Given the description of an element on the screen output the (x, y) to click on. 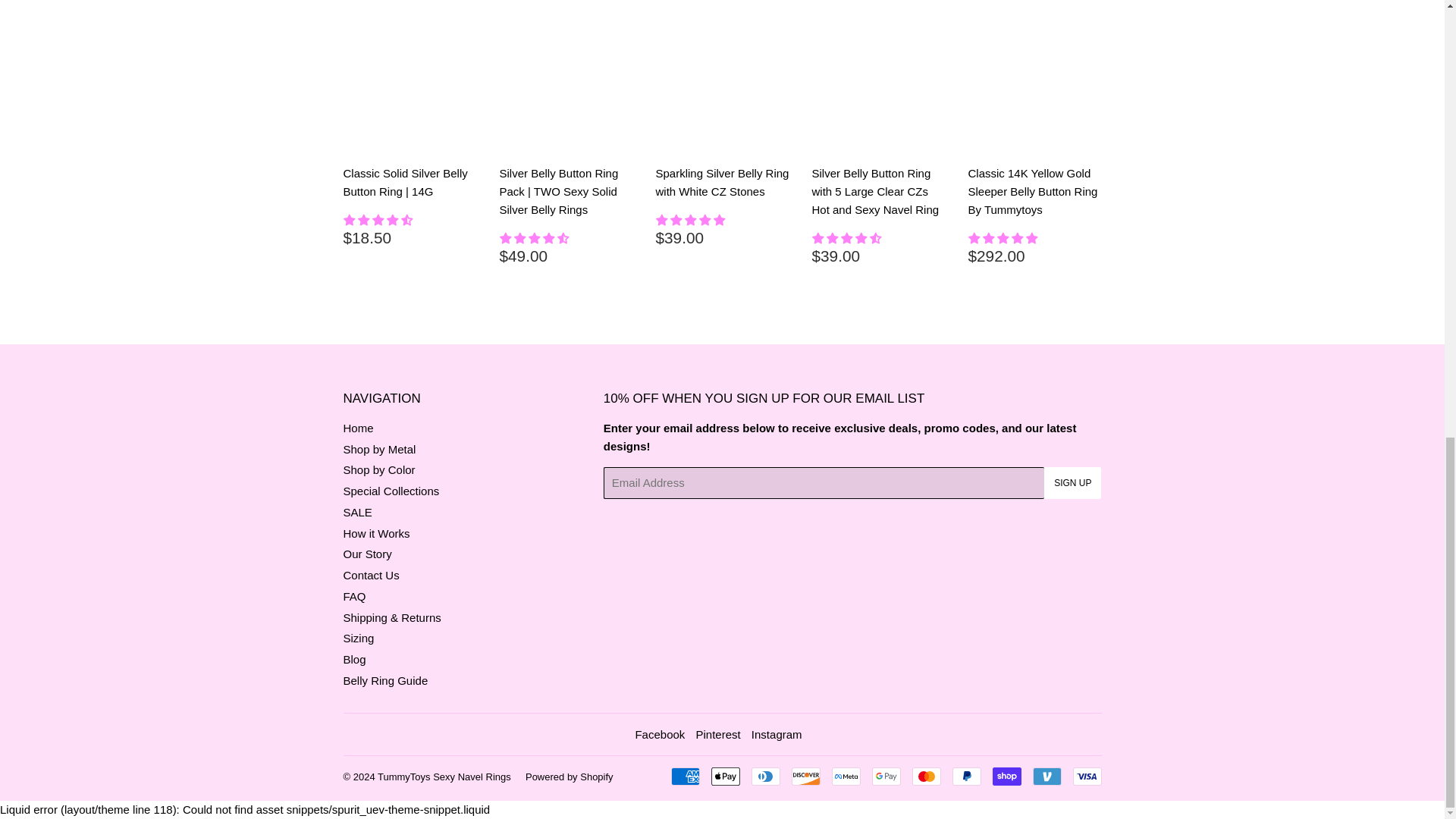
Mastercard (925, 776)
Meta Pay (845, 776)
TummyToys Sexy Navel Rings on Facebook (659, 734)
TummyToys Sexy Navel Rings on Pinterest (717, 734)
Discover (806, 776)
PayPal (966, 776)
Shop Pay (1005, 776)
TummyToys Sexy Navel Rings on Instagram (776, 734)
Google Pay (886, 776)
Visa (1085, 776)
